Given the description of an element on the screen output the (x, y) to click on. 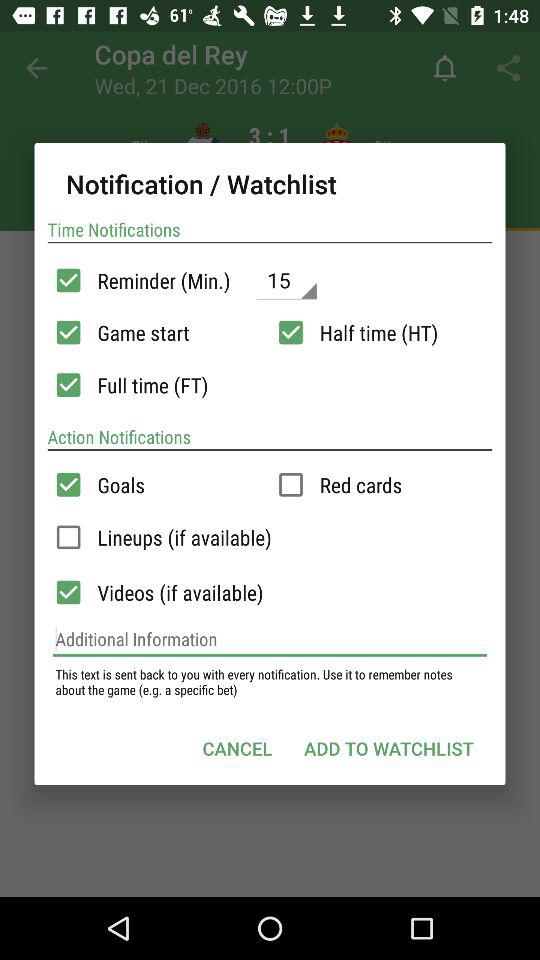
enter additional information (269, 639)
